Given the description of an element on the screen output the (x, y) to click on. 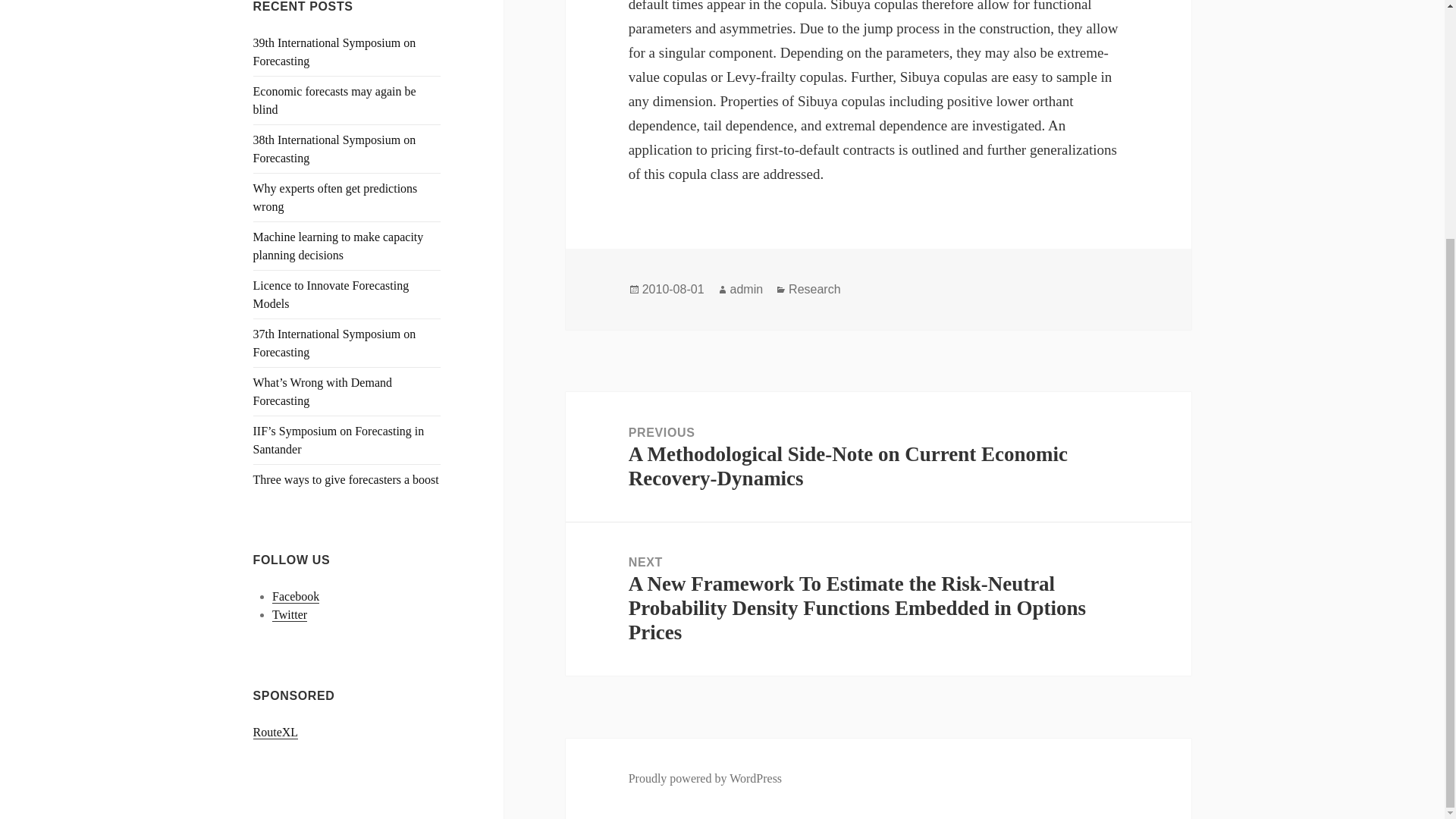
2010-08-01 (673, 289)
39th International Symposium on Forecasting (334, 51)
Research (814, 289)
37th International Symposium on Forecasting (334, 342)
Three ways to give forecasters a boost (346, 479)
Twitter (289, 614)
38th International Symposium on Forecasting (334, 148)
Licence to Innovate Forecasting Models (331, 294)
